Given the description of an element on the screen output the (x, y) to click on. 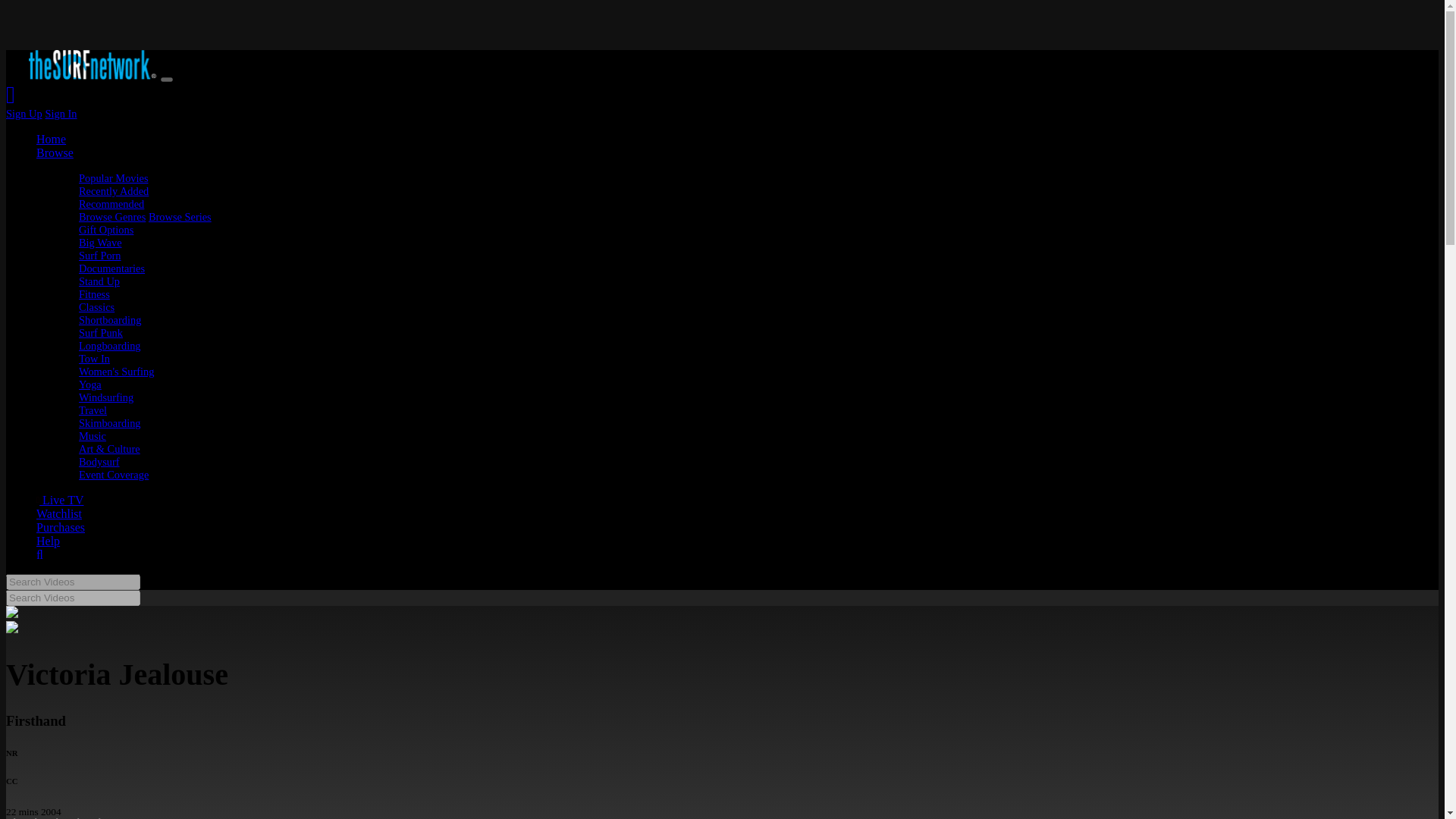
Watchlist (58, 513)
Tow In (94, 358)
Windsurfing (105, 397)
Documentaries (111, 268)
Yoga (89, 384)
Event Coverage (113, 474)
Browse Series (179, 216)
Surf Punk (100, 332)
